Given the description of an element on the screen output the (x, y) to click on. 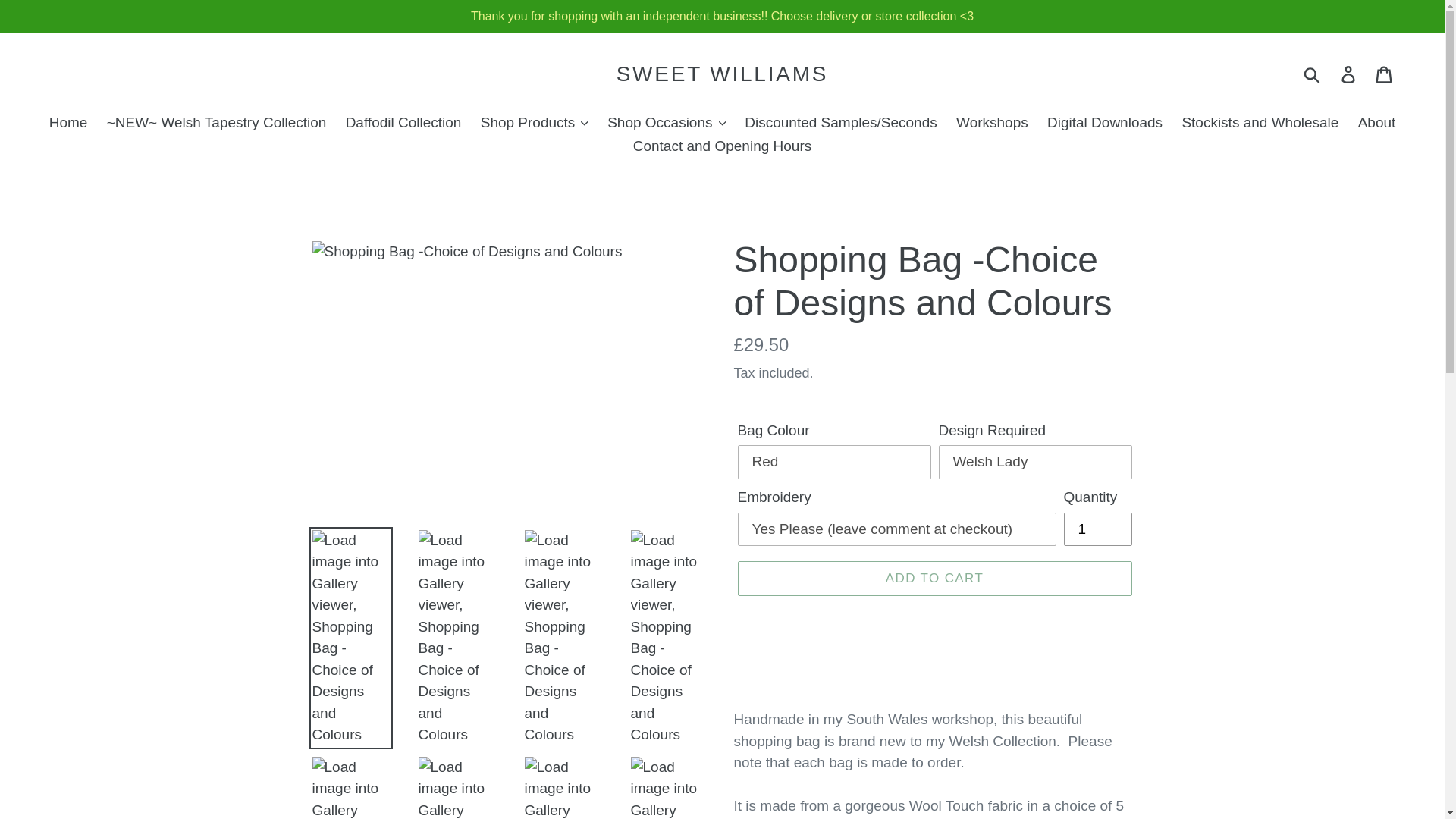
Cart (1385, 74)
1 (1096, 529)
Submit (1313, 74)
SWEET WILLIAMS (721, 73)
Log in (1349, 74)
